Given the description of an element on the screen output the (x, y) to click on. 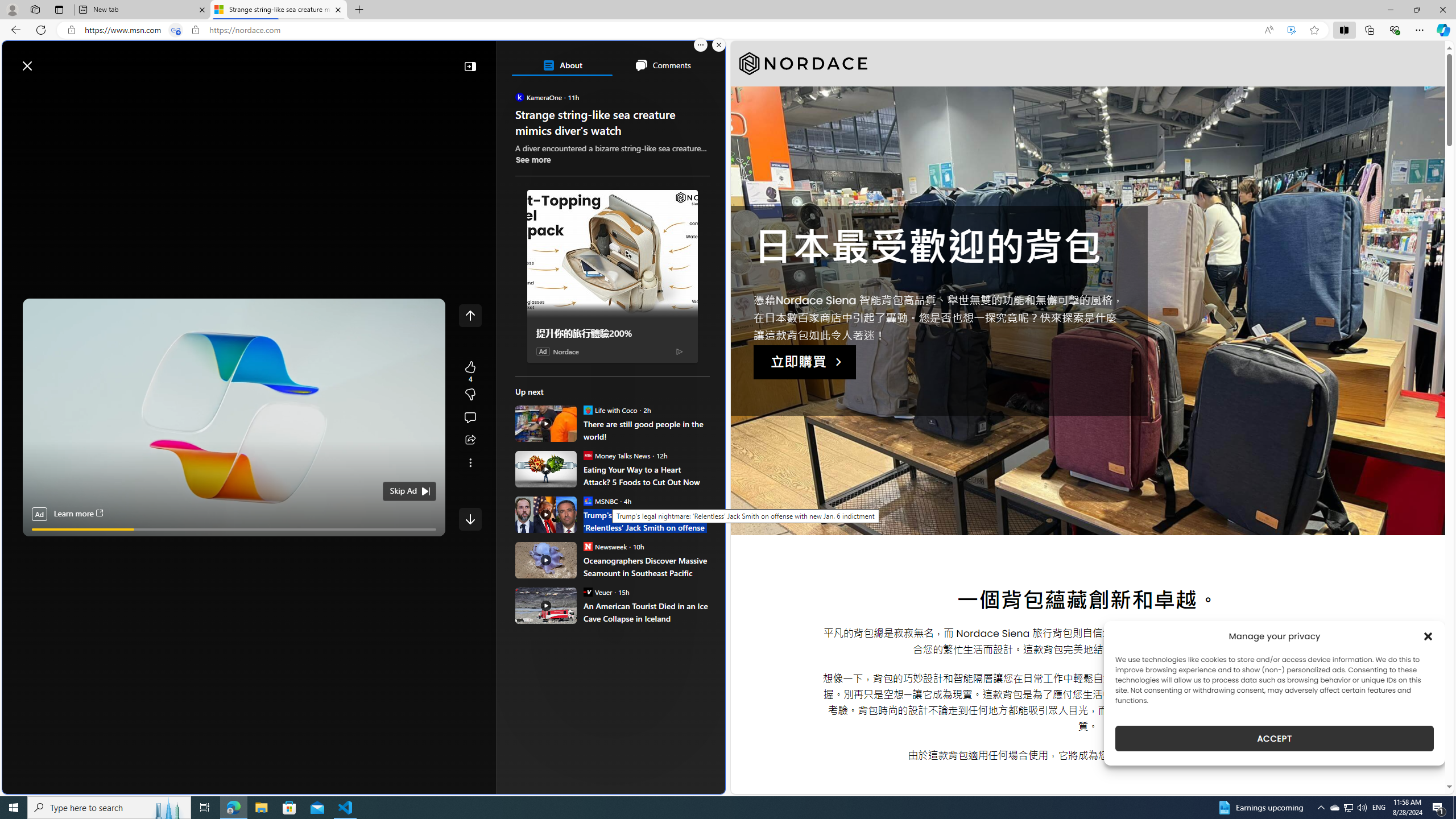
About (561, 64)
Watch (141, 92)
Newsweek (587, 546)
Ad Choice (678, 350)
Eating Your Way to a Heart Attack? 5 Foods to Cut Out Now (545, 468)
Skip Ad (403, 490)
There are still good people in the world! (545, 423)
Class: cmplz-close (1428, 636)
Following (98, 92)
New Tab (358, 9)
Class: control (469, 518)
Notifications (676, 60)
An American Tourist Died in an Ice Cave Collapse in Iceland (545, 605)
